Given the description of an element on the screen output the (x, y) to click on. 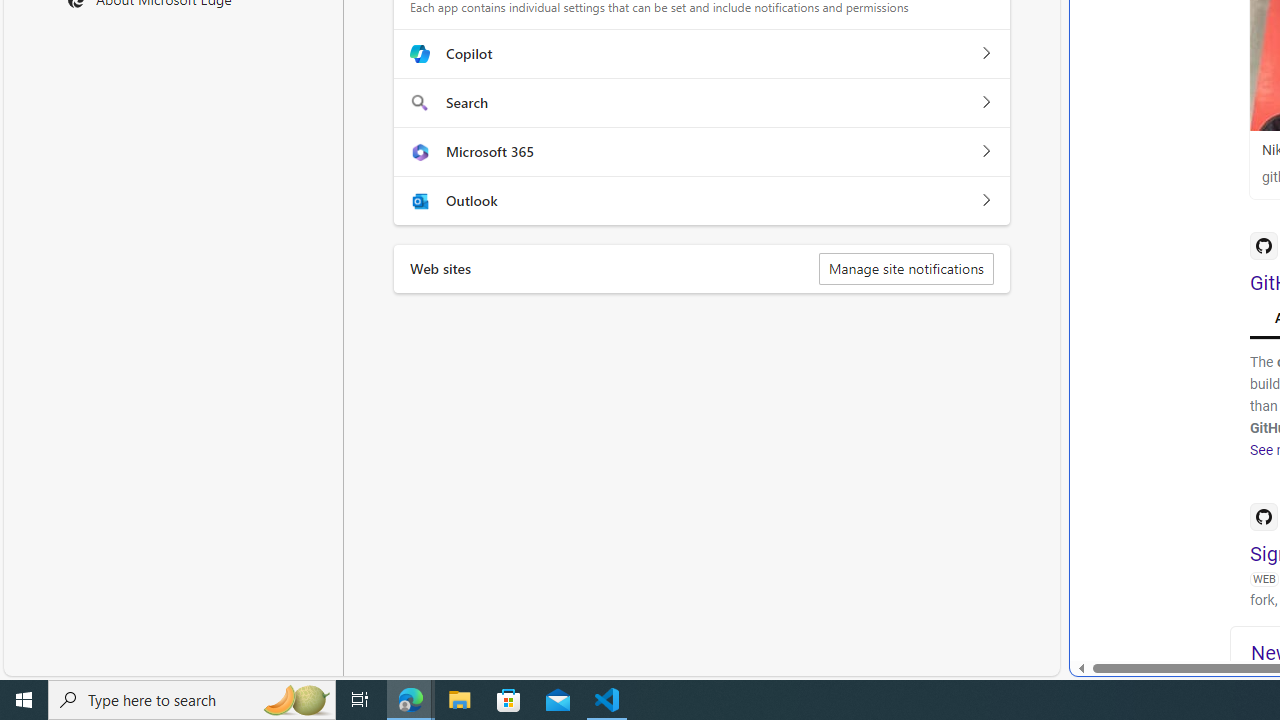
Copilot (985, 54)
Manage site notifications (905, 268)
